Given the description of an element on the screen output the (x, y) to click on. 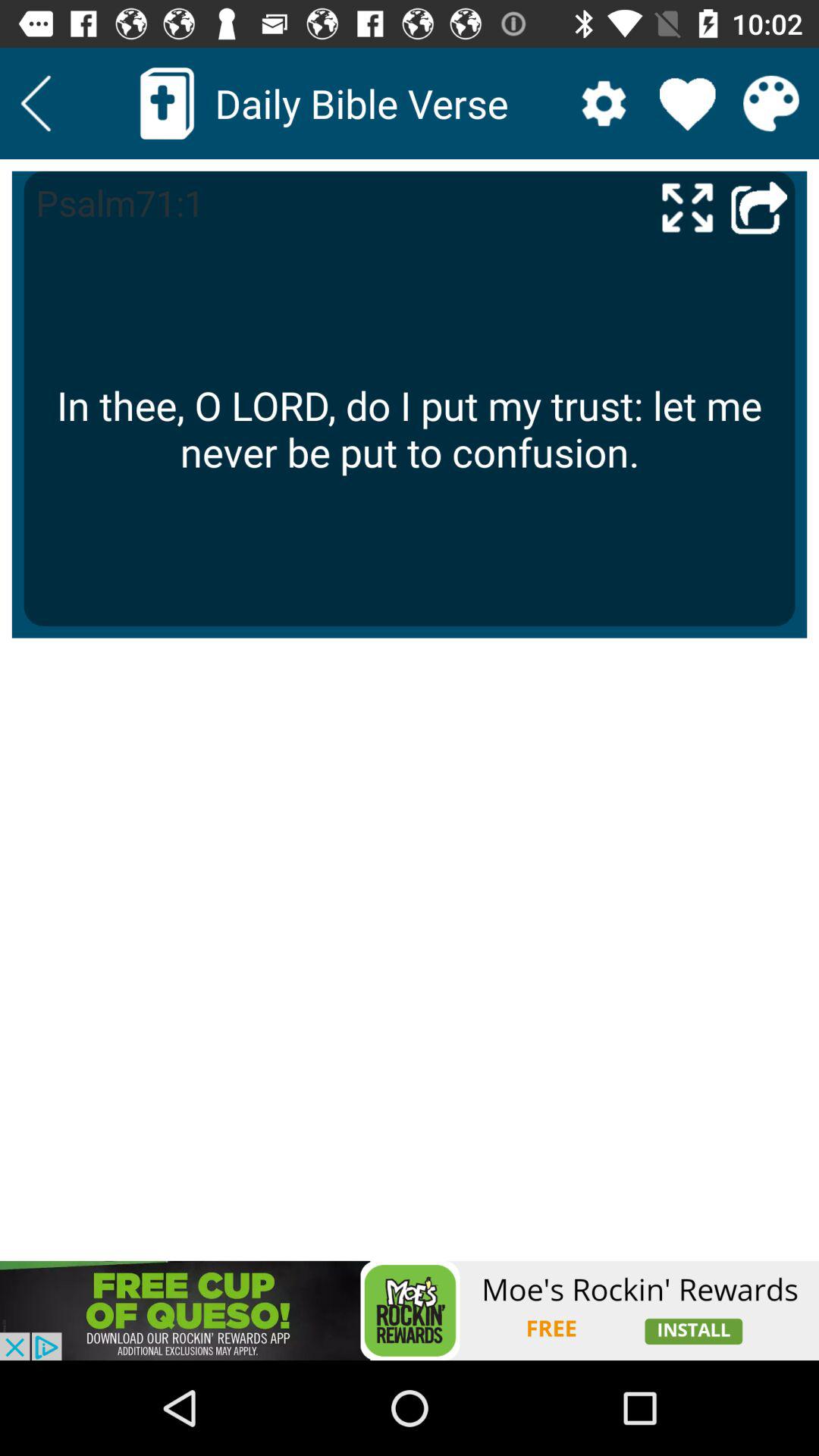
go back (35, 103)
